Given the description of an element on the screen output the (x, y) to click on. 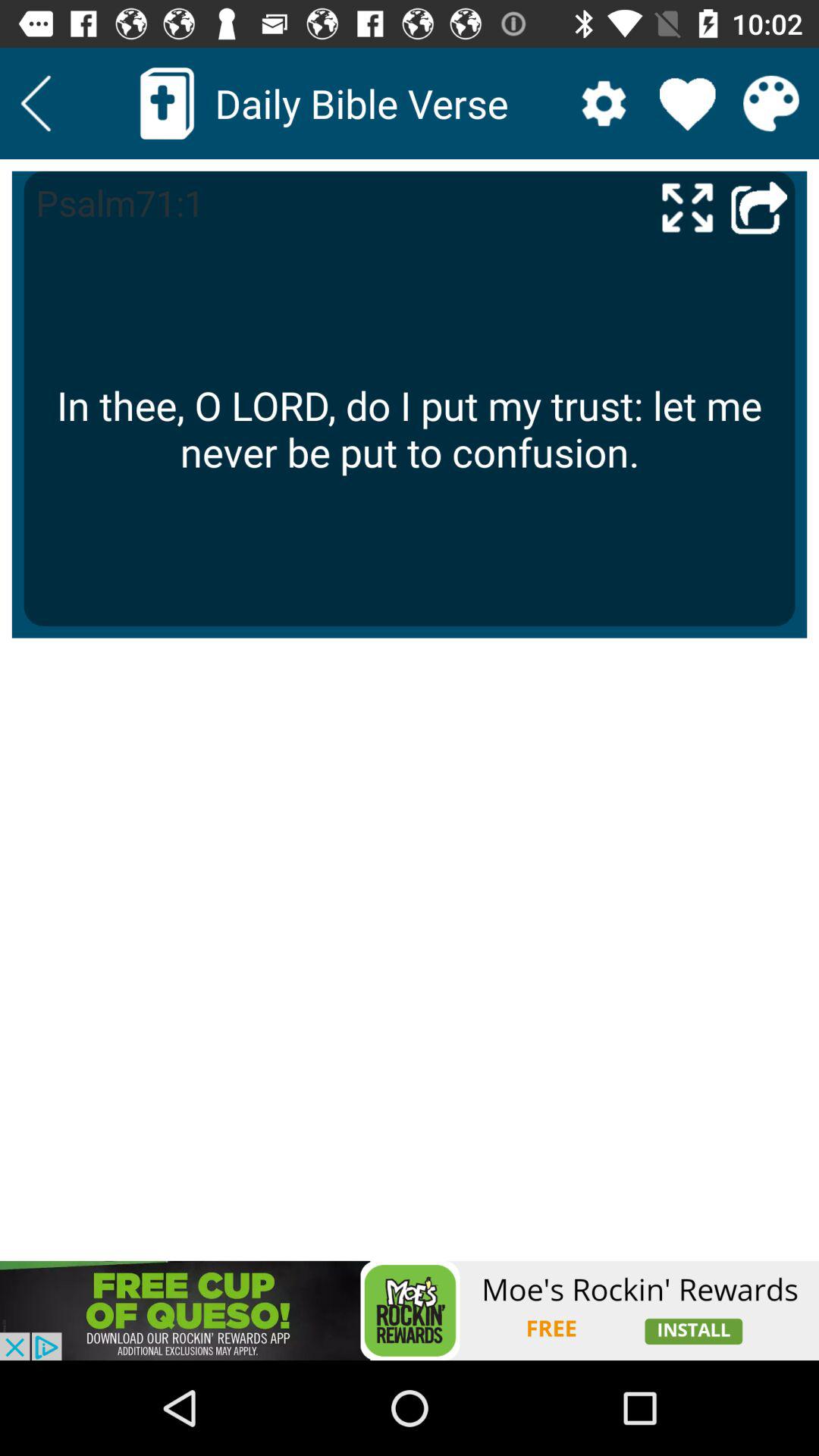
go back (35, 103)
